Given the description of an element on the screen output the (x, y) to click on. 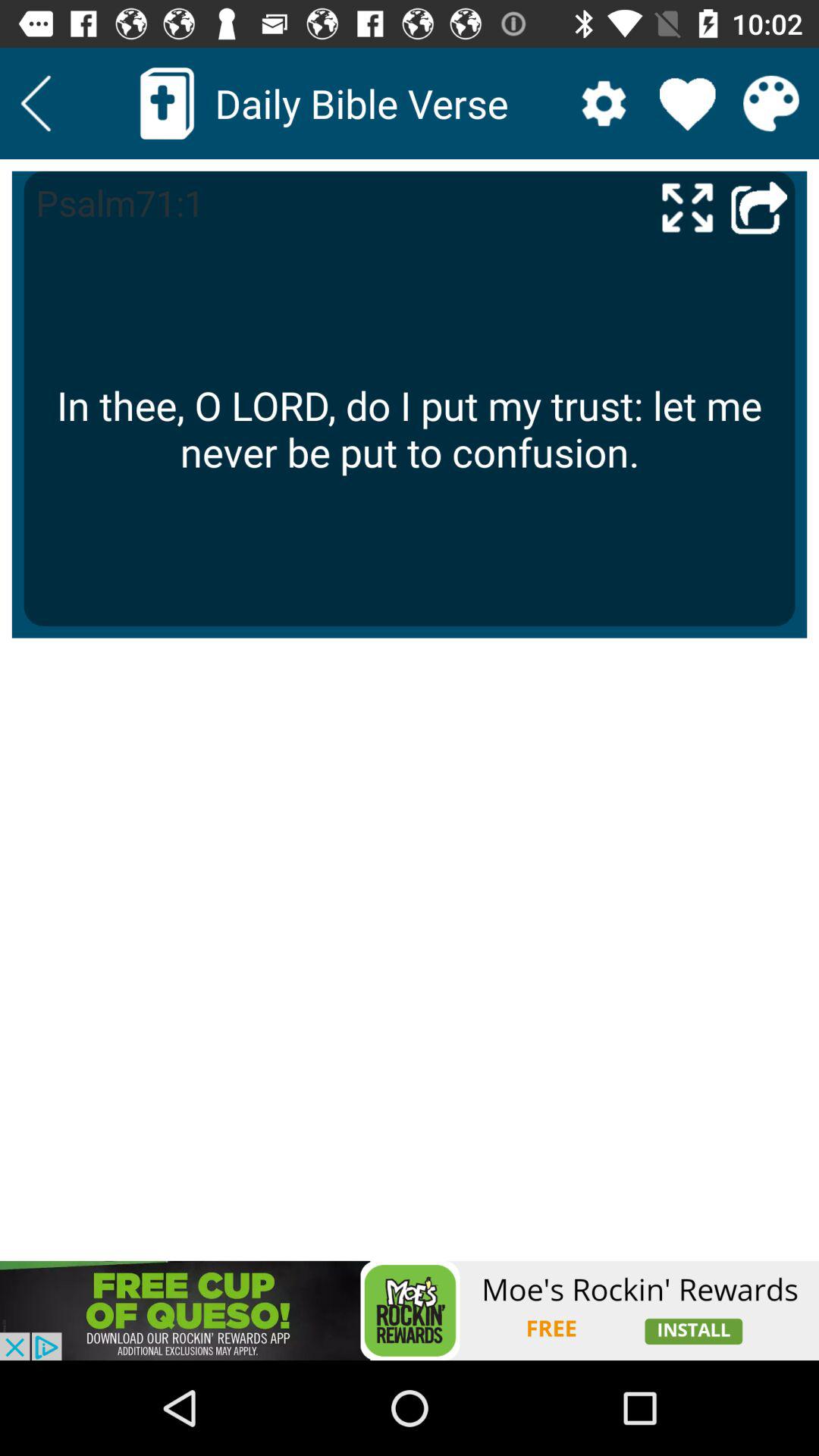
go back (35, 103)
